Given the description of an element on the screen output the (x, y) to click on. 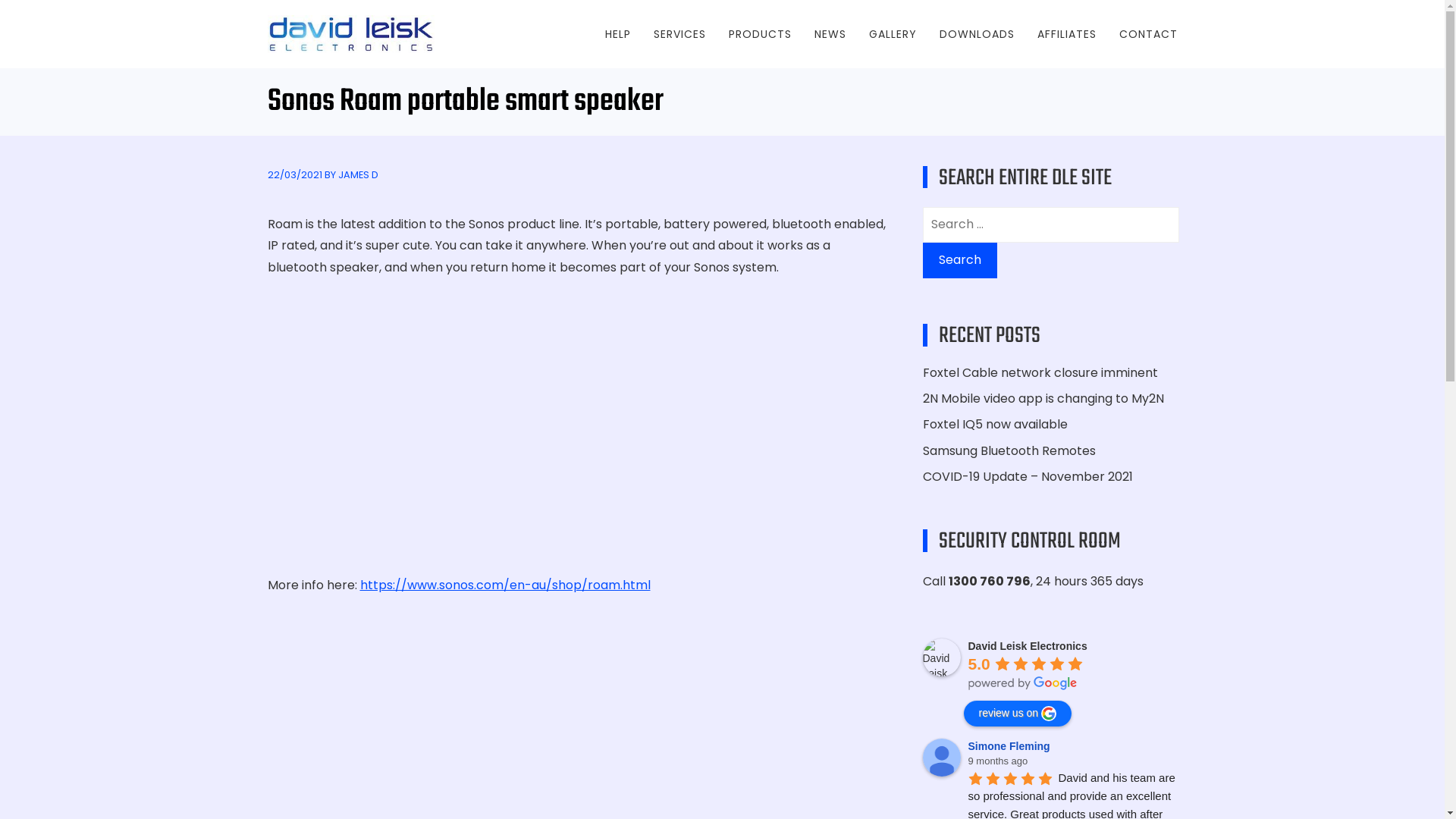
Foxtel IQ5 now available Element type: text (994, 424)
Search Element type: text (959, 260)
2N Mobile video app is changing to My2N Element type: text (1042, 398)
Simone Fleming Element type: hover (941, 757)
GALLERY Element type: text (892, 34)
AFFILIATES Element type: text (1066, 34)
Samsung Bluetooth Remotes Element type: text (1008, 449)
DOWNLOADS Element type: text (975, 34)
https://www.sonos.com/en-au/shop/roam.html Element type: text (504, 584)
powered by Google Element type: hover (1021, 683)
HELP Element type: text (617, 34)
David Leisk Electronics Element type: hover (941, 657)
CONTACT Element type: text (1148, 34)
David Leisk Electronics Element type: text (1026, 646)
PRODUCTS Element type: text (759, 34)
SERVICES Element type: text (679, 34)
NEWS Element type: text (830, 34)
Foxtel Cable network closure imminent Element type: text (1039, 372)
Simone Fleming Element type: text (1010, 746)
review us on Element type: text (1017, 713)
